Given the description of an element on the screen output the (x, y) to click on. 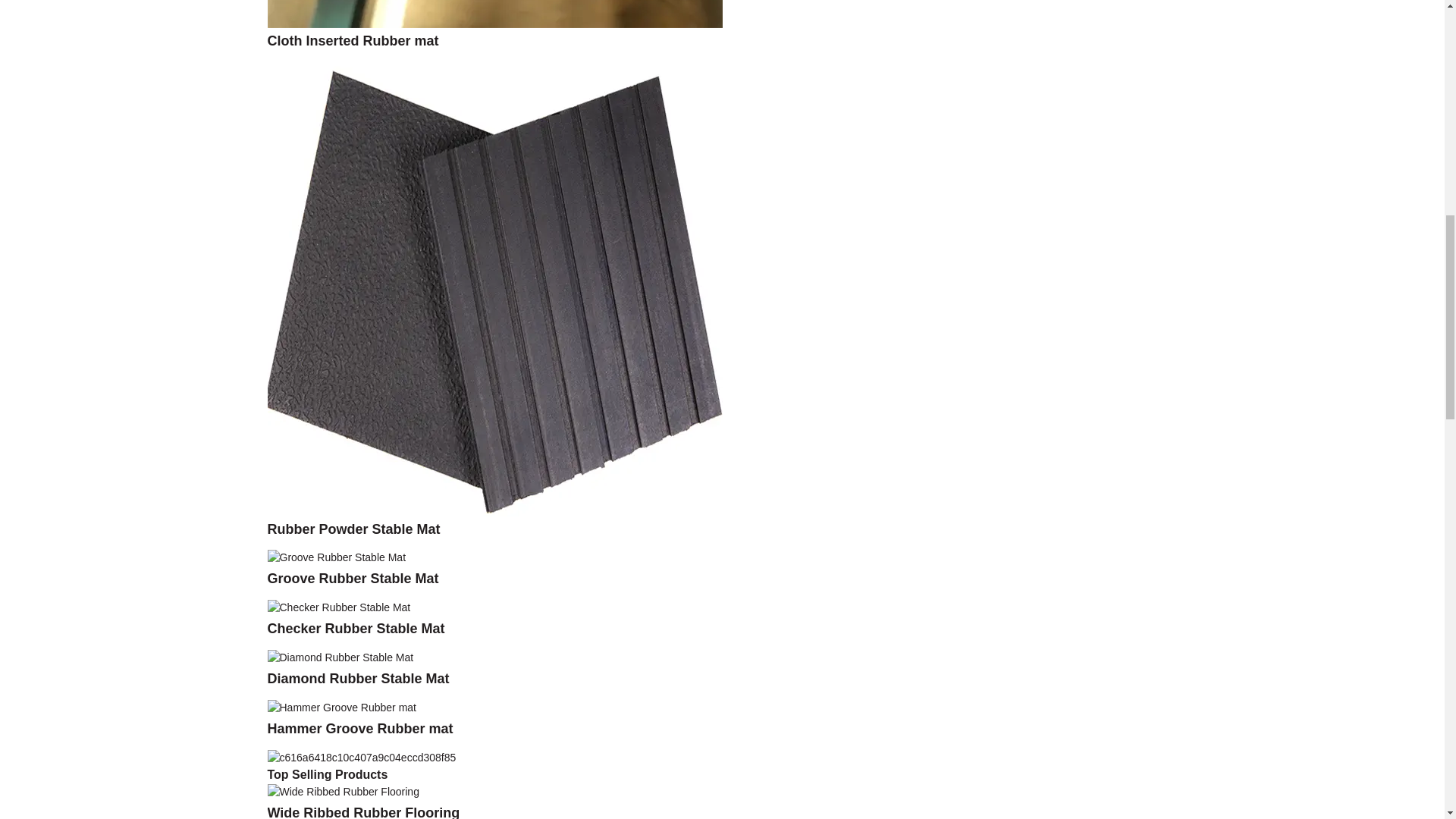
Rubber Powder Stable Mat (352, 529)
Rubber Powder Stable Mat (494, 287)
Diamond Rubber Stable Mat (357, 678)
Checker Rubber Stable Mat (355, 628)
Diamond Rubber Stable Mat (339, 656)
Groove Rubber Stable Mat (352, 578)
Cloth Inserted Rubber mat (352, 40)
Checker Rubber Stable Mat (355, 628)
Checker Rubber Stable Mat (338, 606)
Rubber Powder Stable Mat (352, 529)
Groove Rubber Stable Mat (352, 578)
Groove Rubber Stable Mat (336, 557)
Cloth Inserted Rubber mat (352, 40)
